Given the description of an element on the screen output the (x, y) to click on. 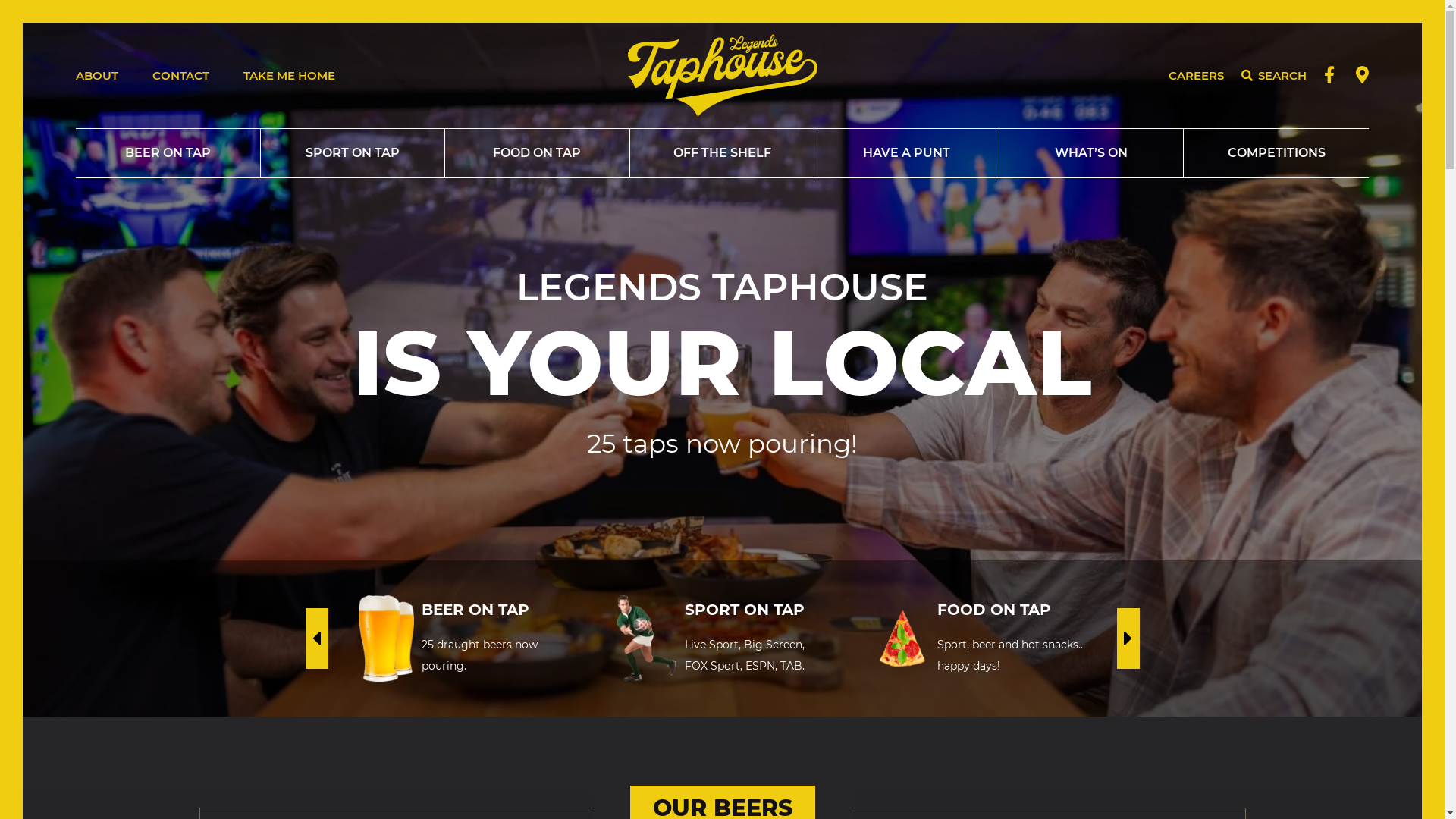
COMPETITIONS Element type: text (1275, 152)
HAVE A PUNT Element type: text (906, 152)
SPORT ON TAP
Live Sport, Big Screen, FOX Sport, ESPN, TAB. Element type: text (721, 638)
CAREERS Element type: text (1195, 75)
CONTACT Element type: text (180, 75)
BEER ON TAP Element type: text (167, 152)
SPORT ON TAP Element type: text (352, 152)
SEARCH Element type: text (1273, 74)
FOOD ON TAP Element type: text (537, 152)
BEER ON TAP
25 draught beers now pouring. Element type: text (463, 638)
ABOUT Element type: text (96, 75)
OFF THE SHELF Element type: text (722, 152)
TAKE ME HOME Element type: text (289, 75)
